Given the description of an element on the screen output the (x, y) to click on. 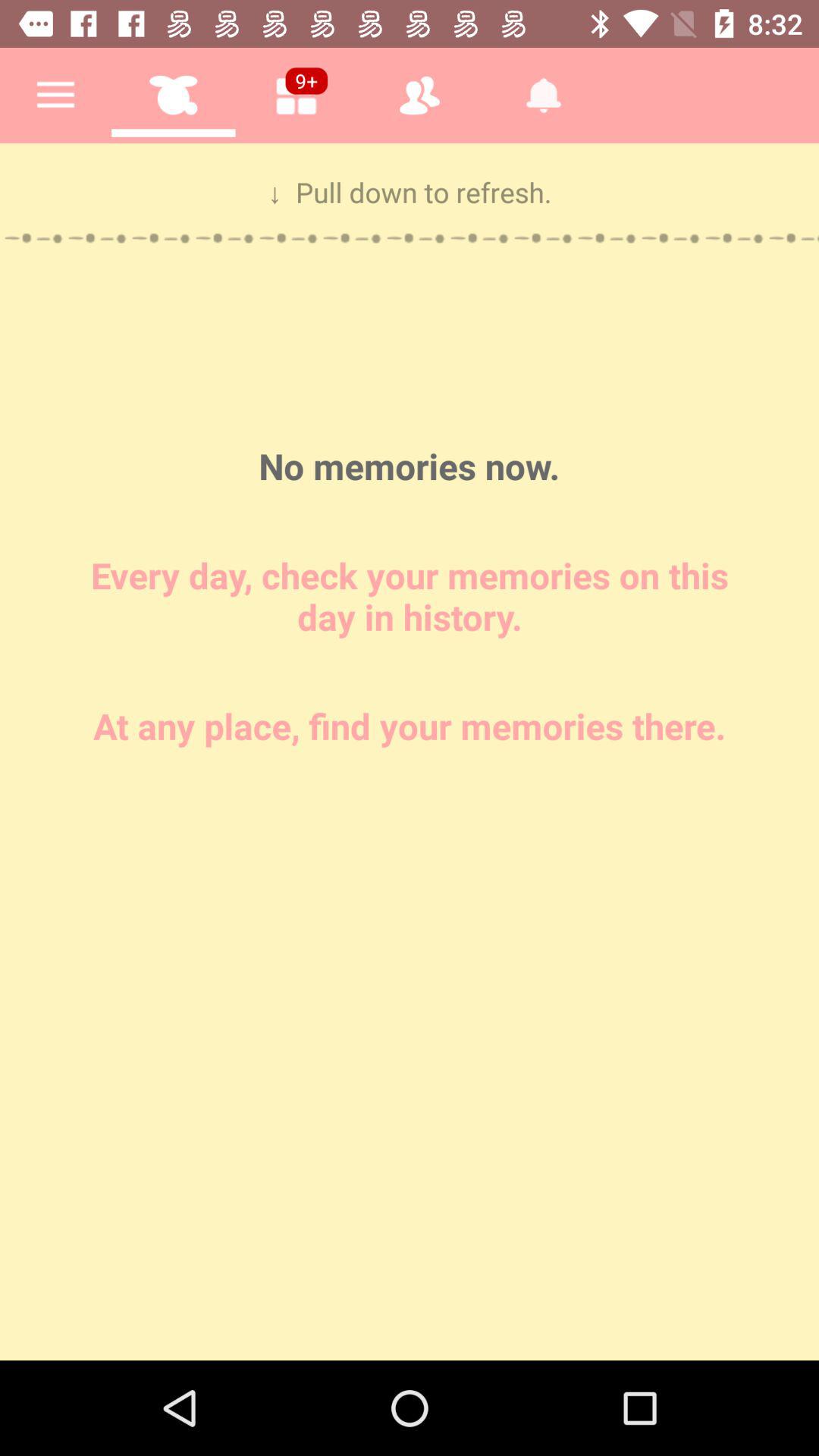
a text area where memories will be showed (409, 751)
